Given the description of an element on the screen output the (x, y) to click on. 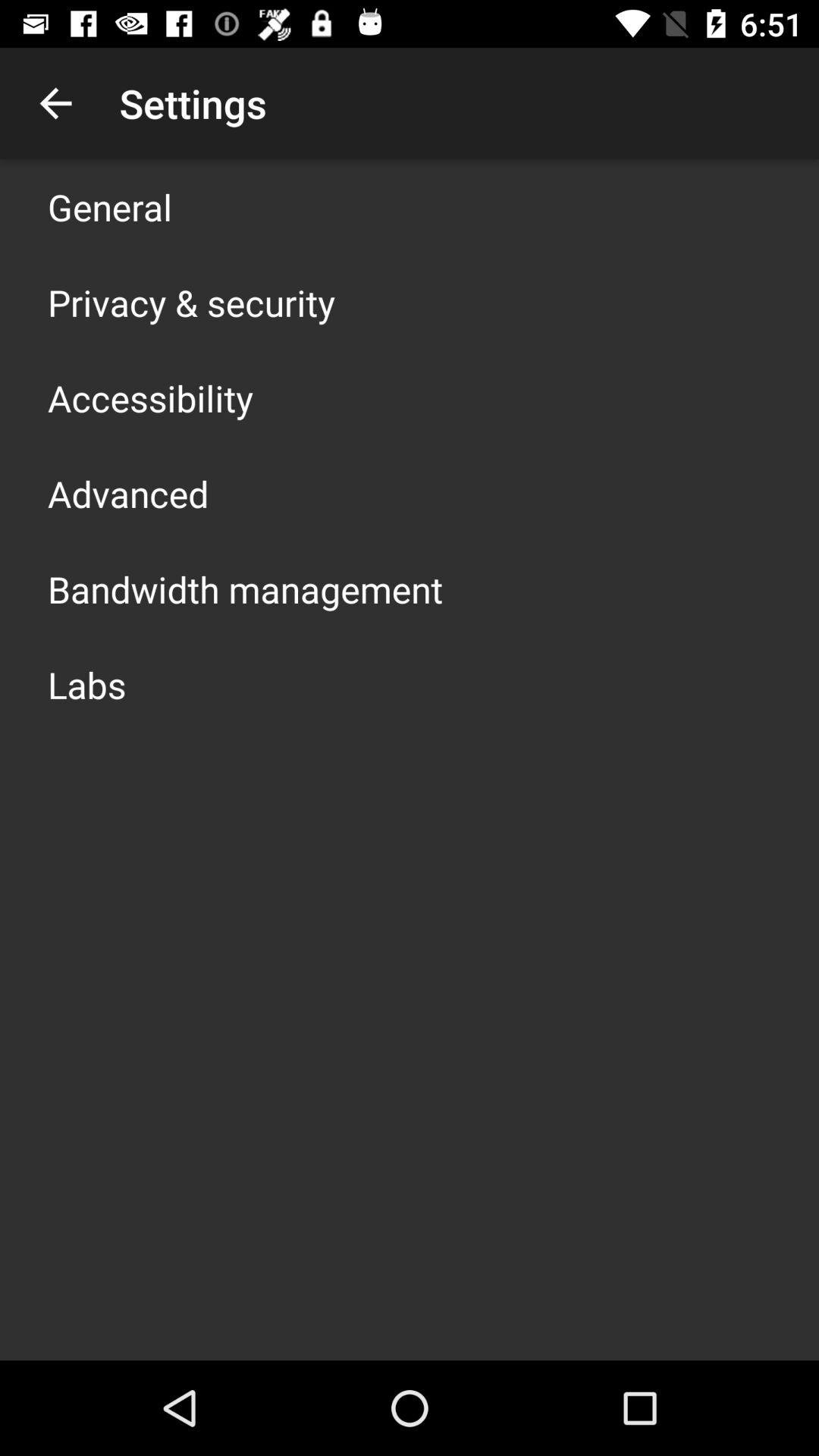
launch the bandwidth management item (245, 588)
